Given the description of an element on the screen output the (x, y) to click on. 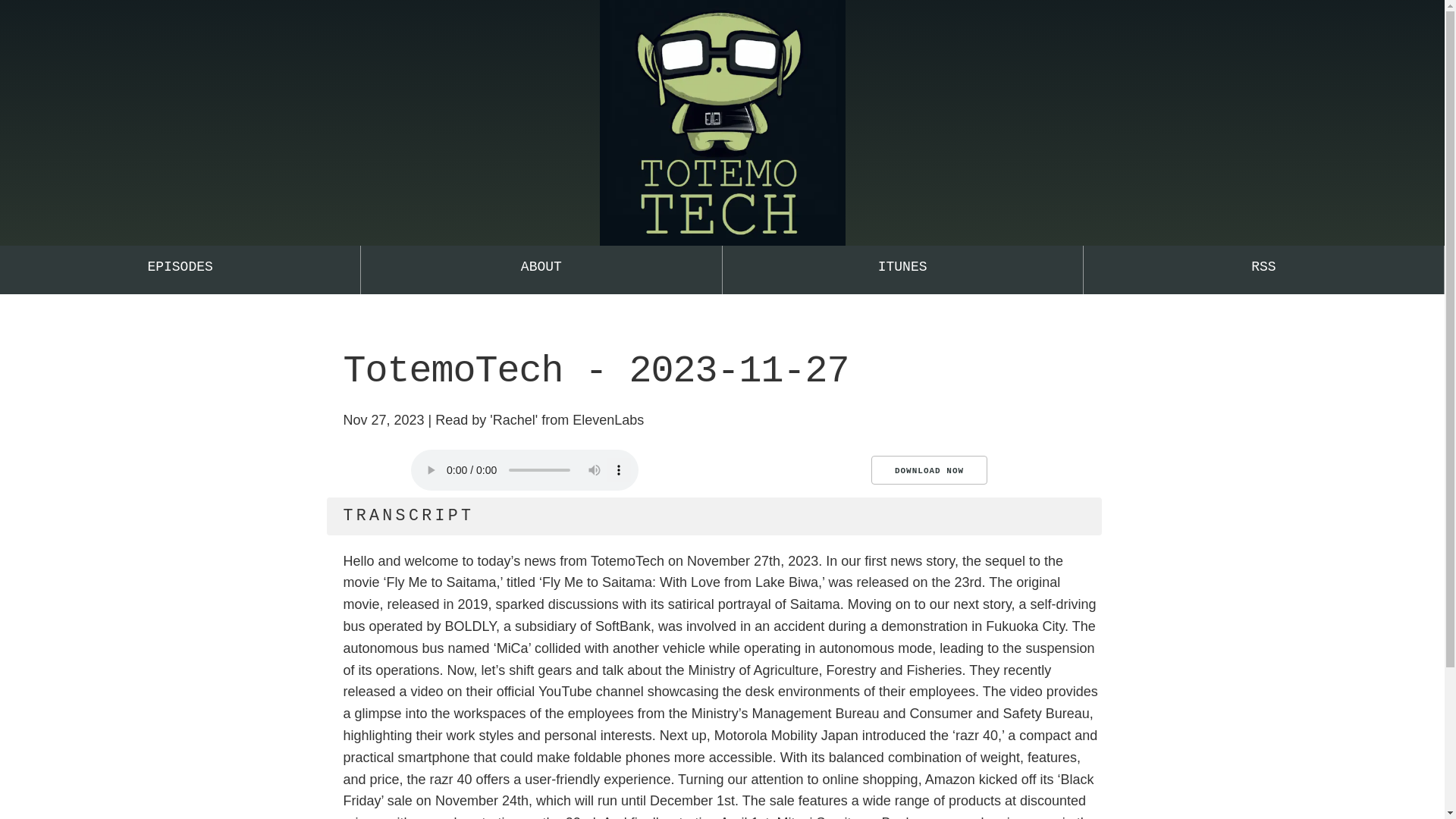
ITUNES (901, 269)
DOWNLOAD NOW (928, 469)
EPISODES (179, 269)
RSS (1263, 269)
ABOUT (540, 269)
